Given the description of an element on the screen output the (x, y) to click on. 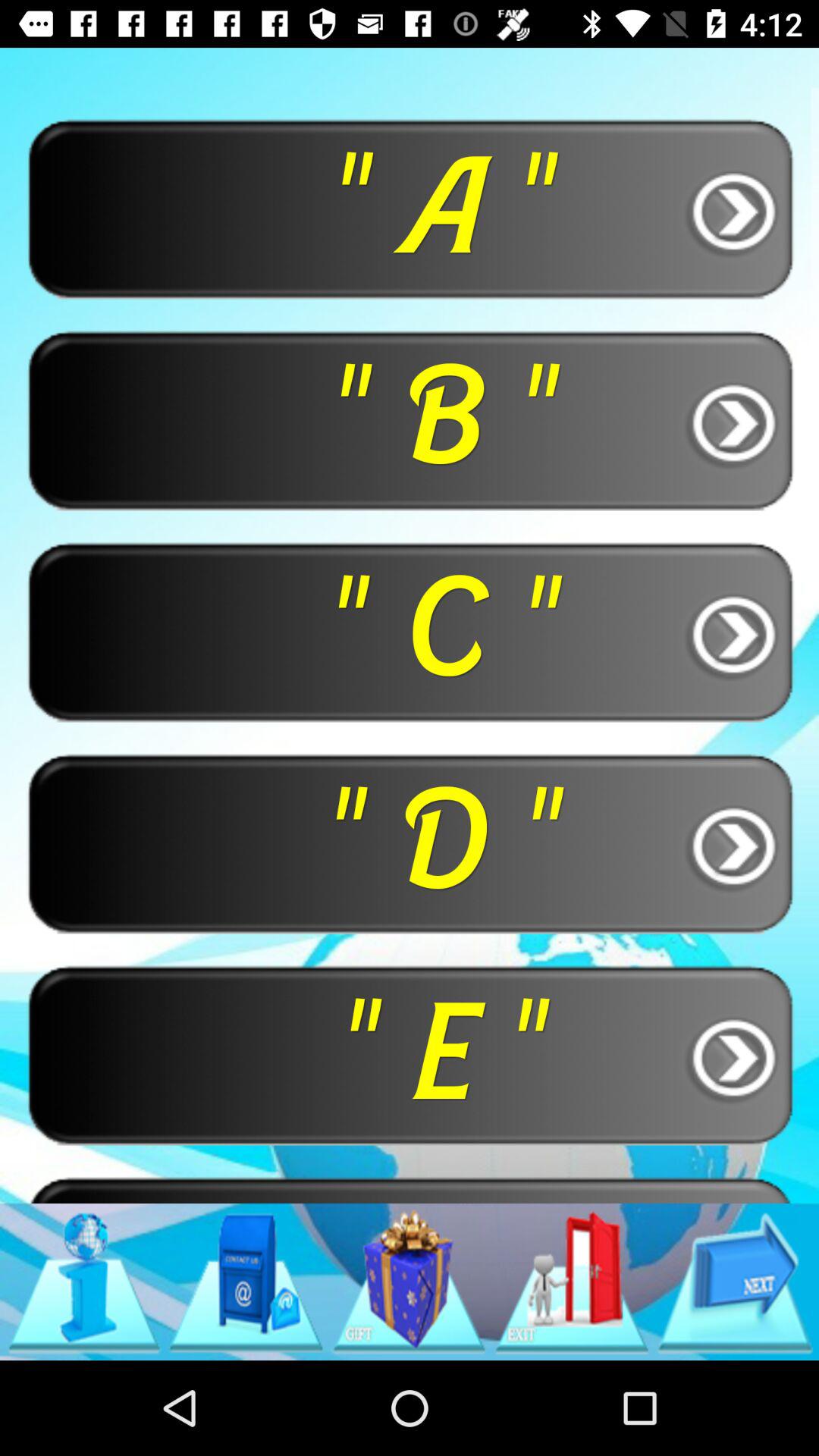
mailbox option (245, 1281)
